Given the description of an element on the screen output the (x, y) to click on. 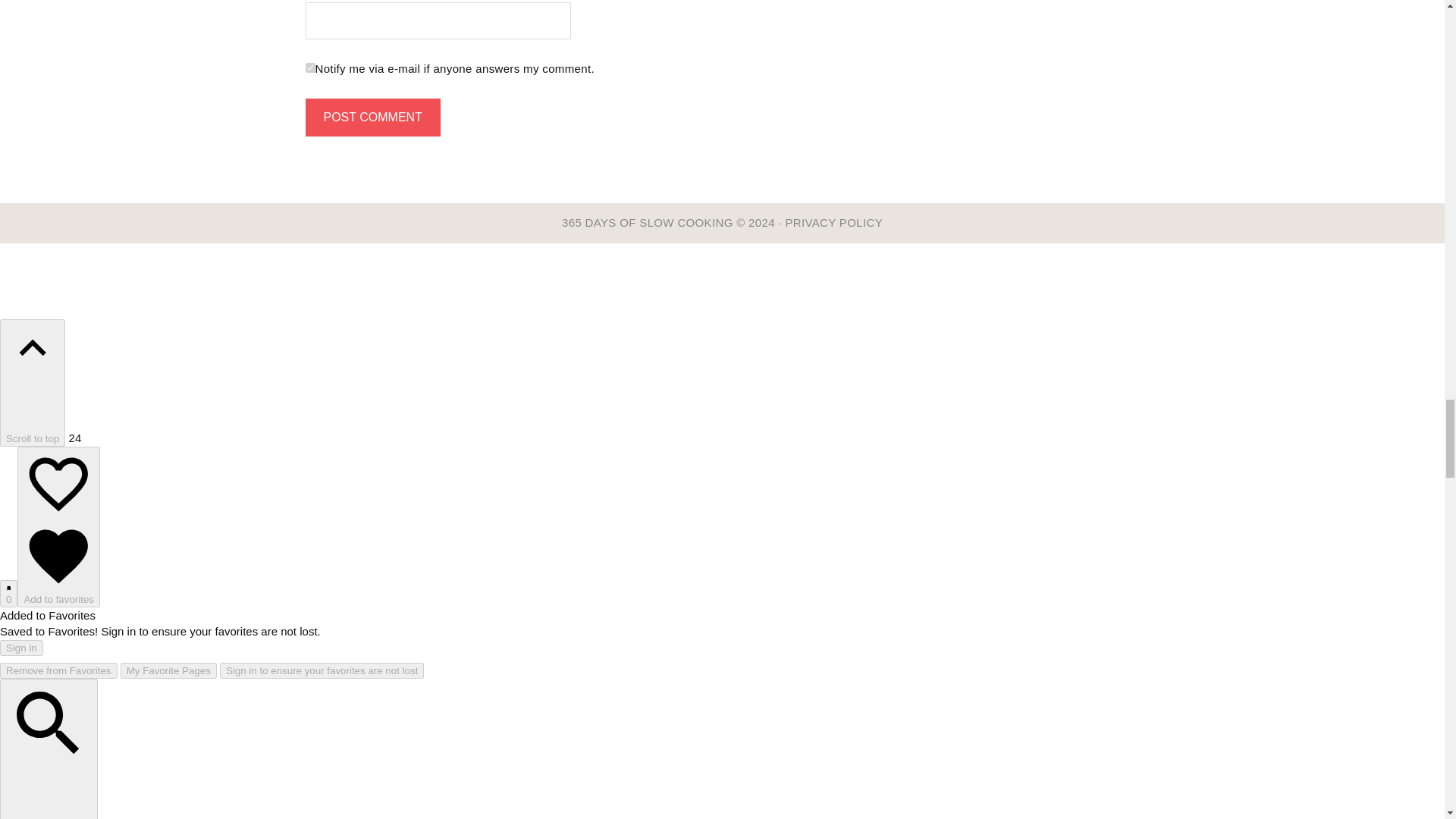
on (309, 67)
Post Comment (371, 117)
Post Comment (371, 117)
